Given the description of an element on the screen output the (x, y) to click on. 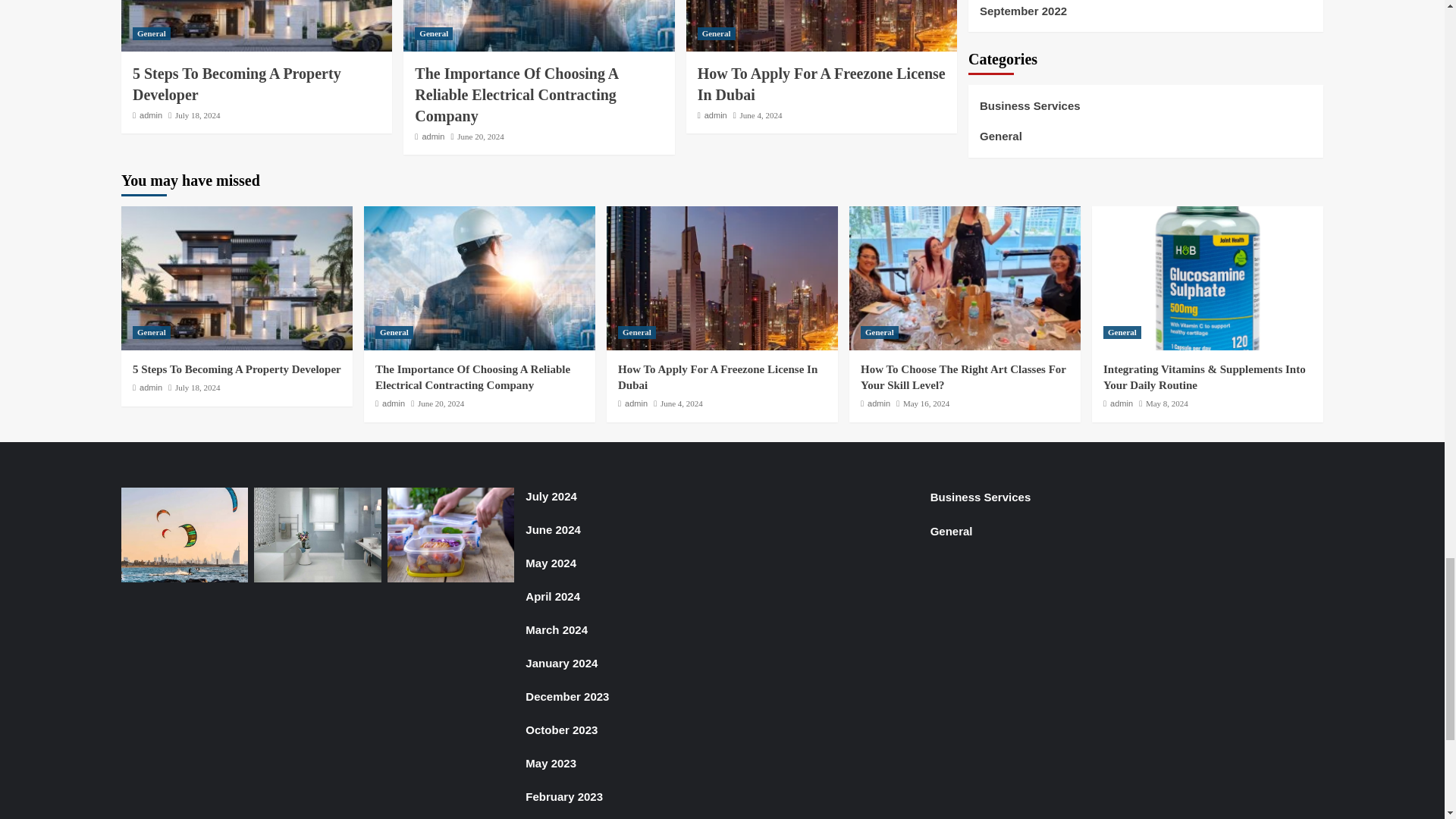
admin (433, 135)
June 20, 2024 (480, 135)
admin (715, 114)
5 Steps To Becoming A Property Developer (236, 84)
How To Apply For A Freezone License In Dubai (820, 84)
July 18, 2024 (197, 114)
General (716, 33)
General (433, 33)
June 4, 2024 (761, 114)
General (151, 33)
admin (150, 114)
